Given the description of an element on the screen output the (x, y) to click on. 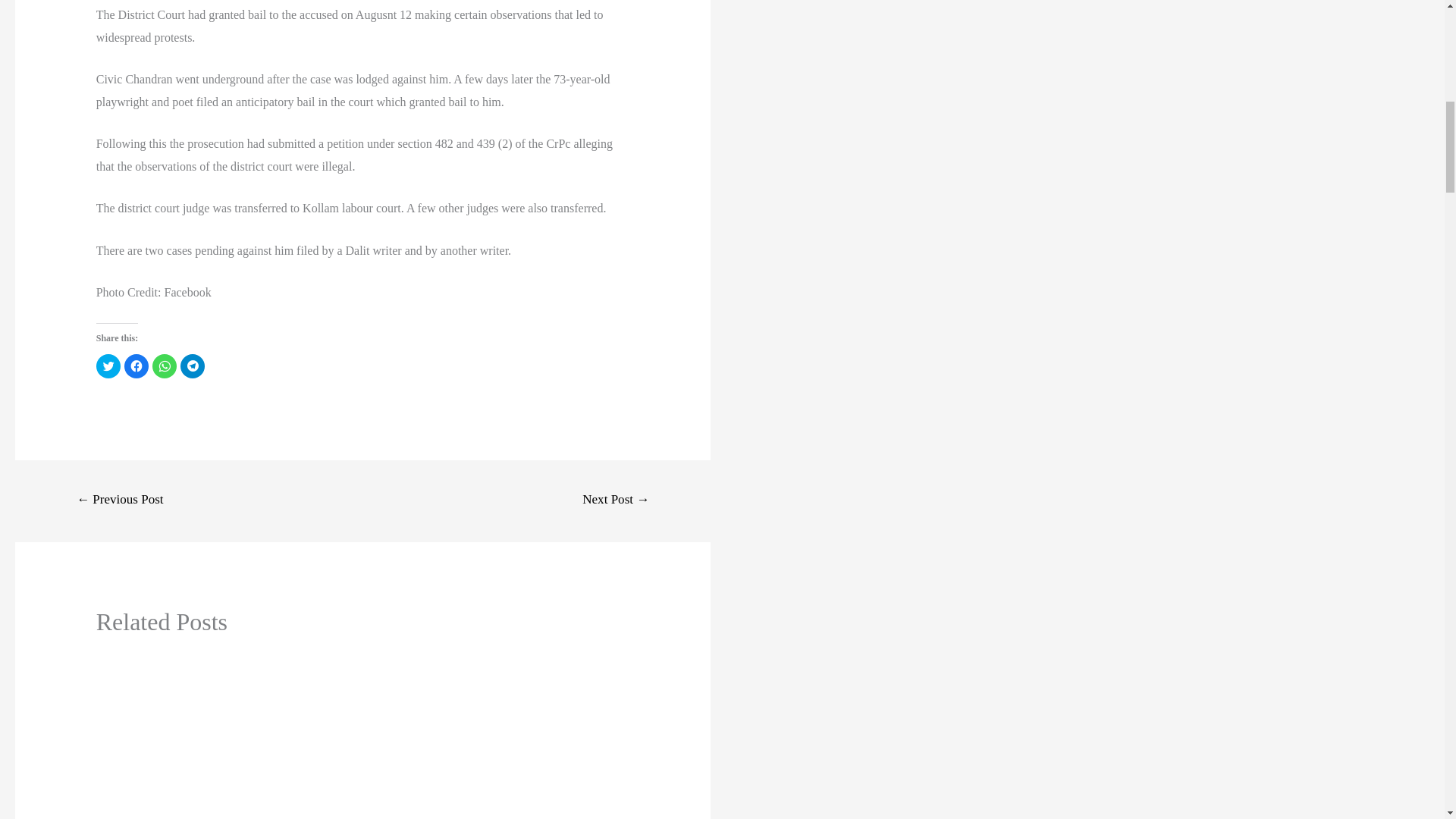
Click to share on Telegram (192, 365)
Click to share on Facebook (135, 365)
Click to share on WhatsApp (164, 365)
Click to share on Twitter (108, 365)
